Given the description of an element on the screen output the (x, y) to click on. 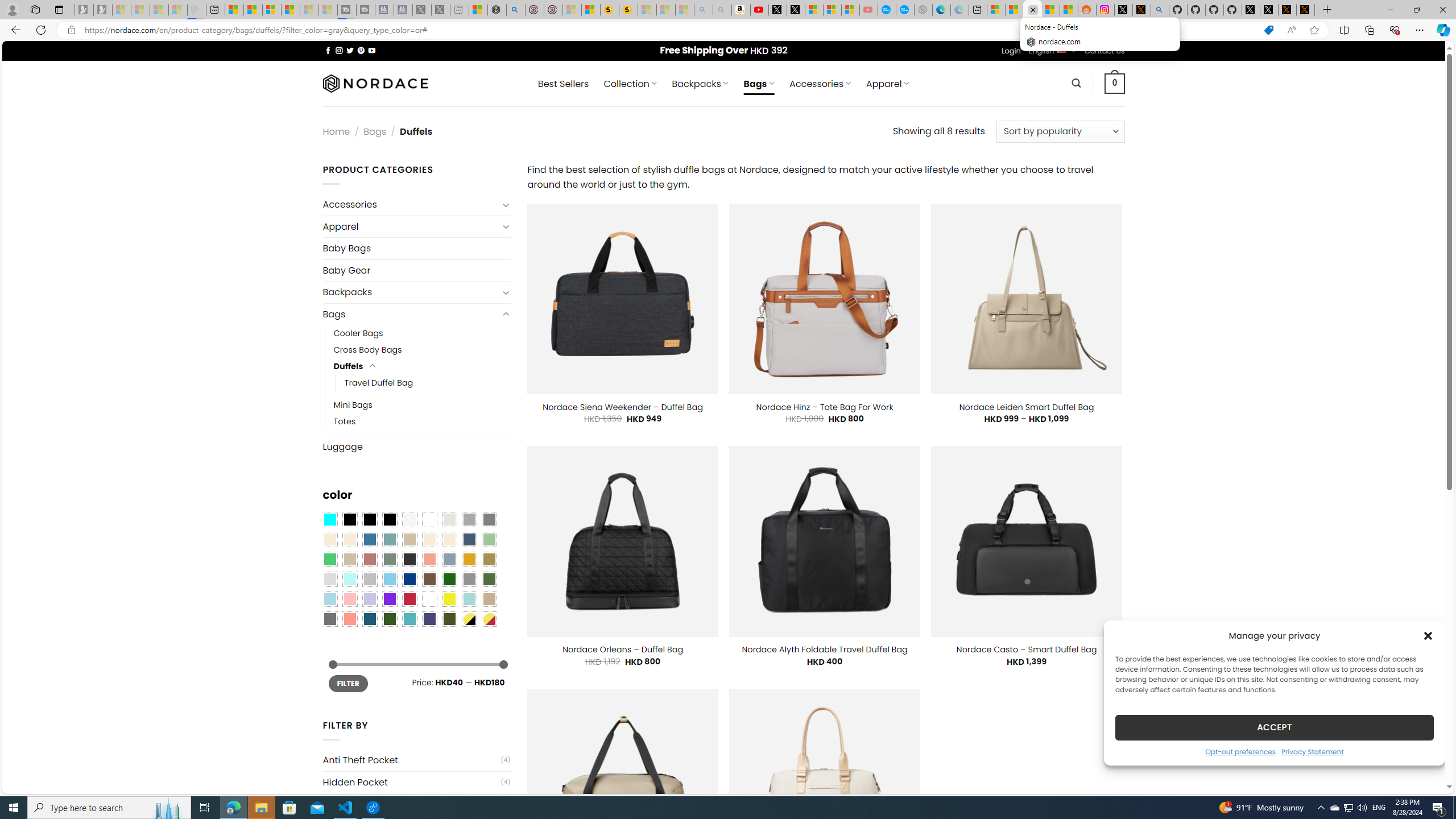
  Best Sellers (563, 83)
Cooler Bags (357, 333)
Dusty Blue (449, 559)
Rose (369, 559)
Laptop Sleeve(3) (416, 803)
Charcoal (408, 559)
Silver (369, 579)
